Given the description of an element on the screen output the (x, y) to click on. 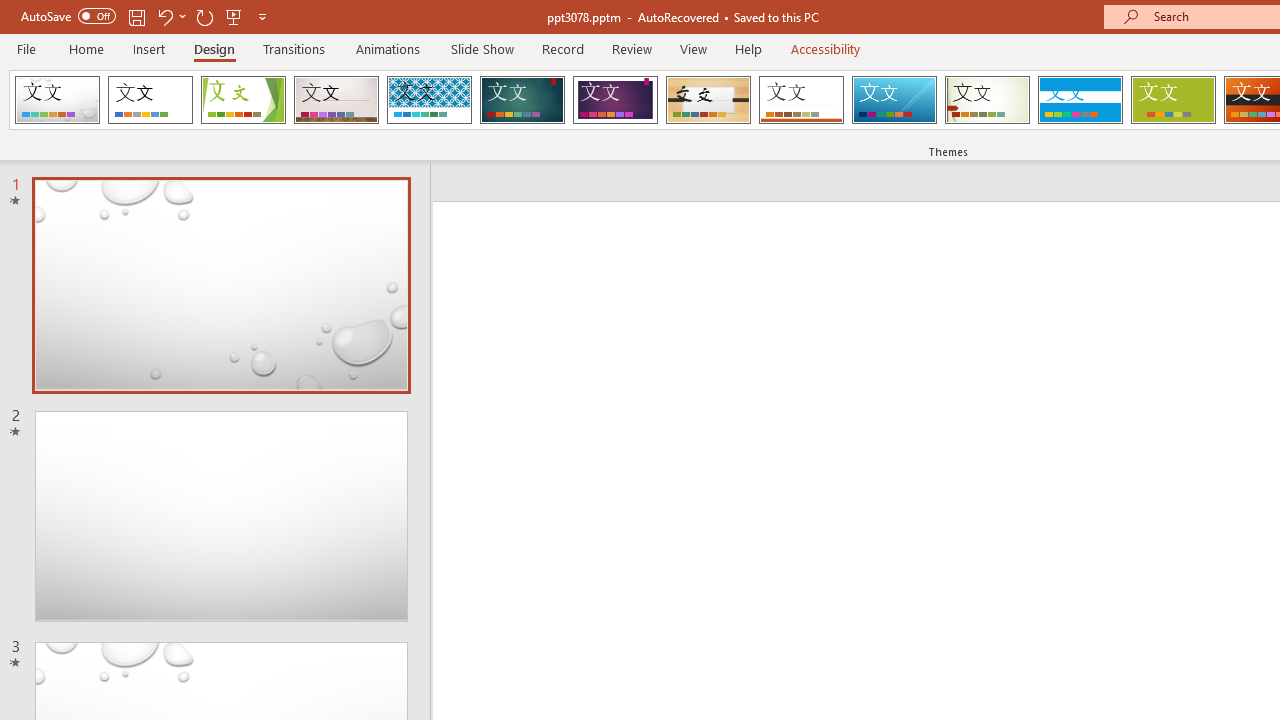
Banded (1080, 100)
Integral (429, 100)
Wisp (987, 100)
Office Theme (150, 100)
